Given the description of an element on the screen output the (x, y) to click on. 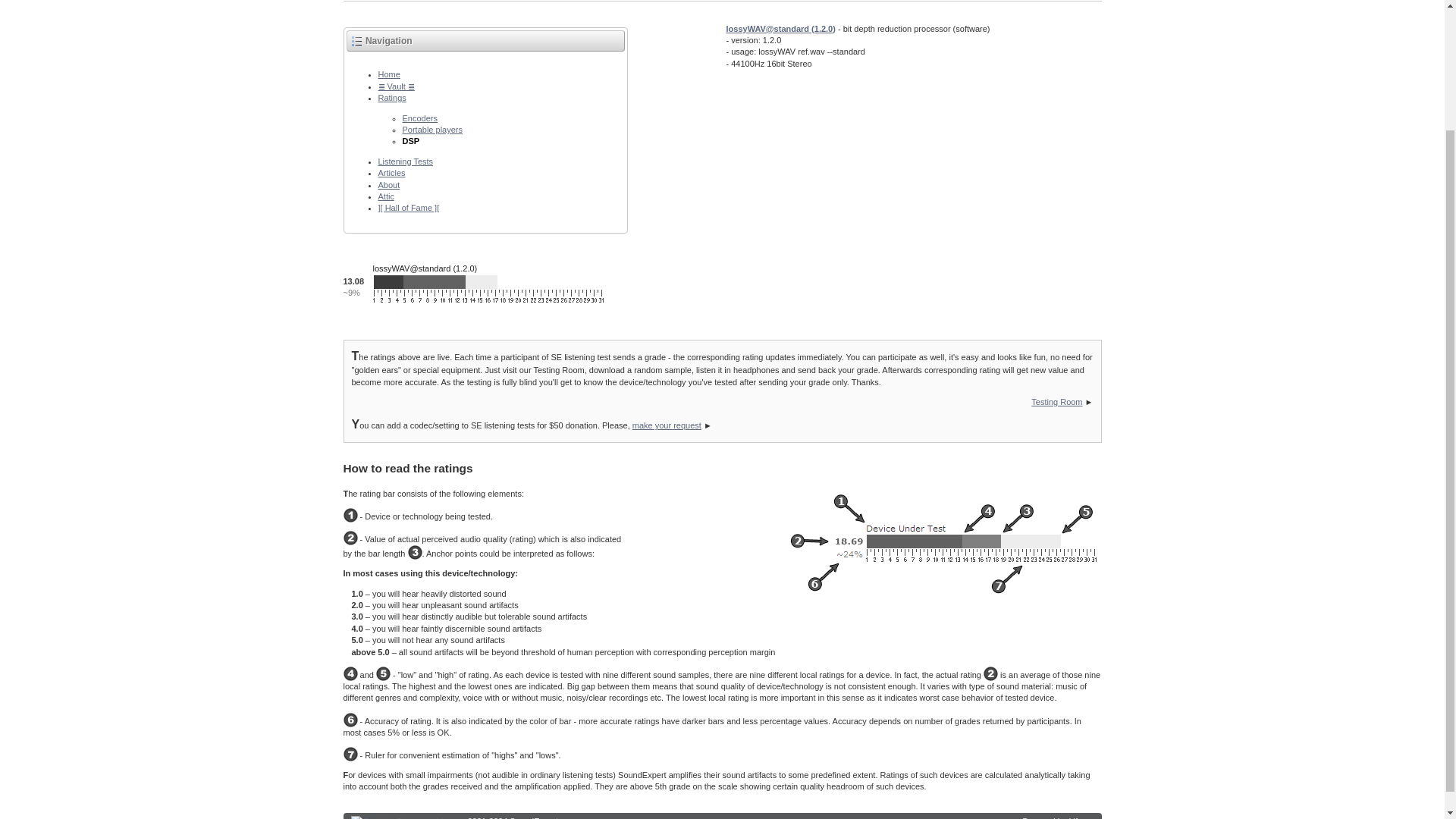
About (387, 184)
Listening Tests (404, 161)
Portable players (432, 129)
DSP (410, 140)
Home (387, 73)
Encoders (418, 117)
Attic (385, 195)
Articles (390, 172)
Ratings (391, 97)
Testing Room (1055, 401)
